Given the description of an element on the screen output the (x, y) to click on. 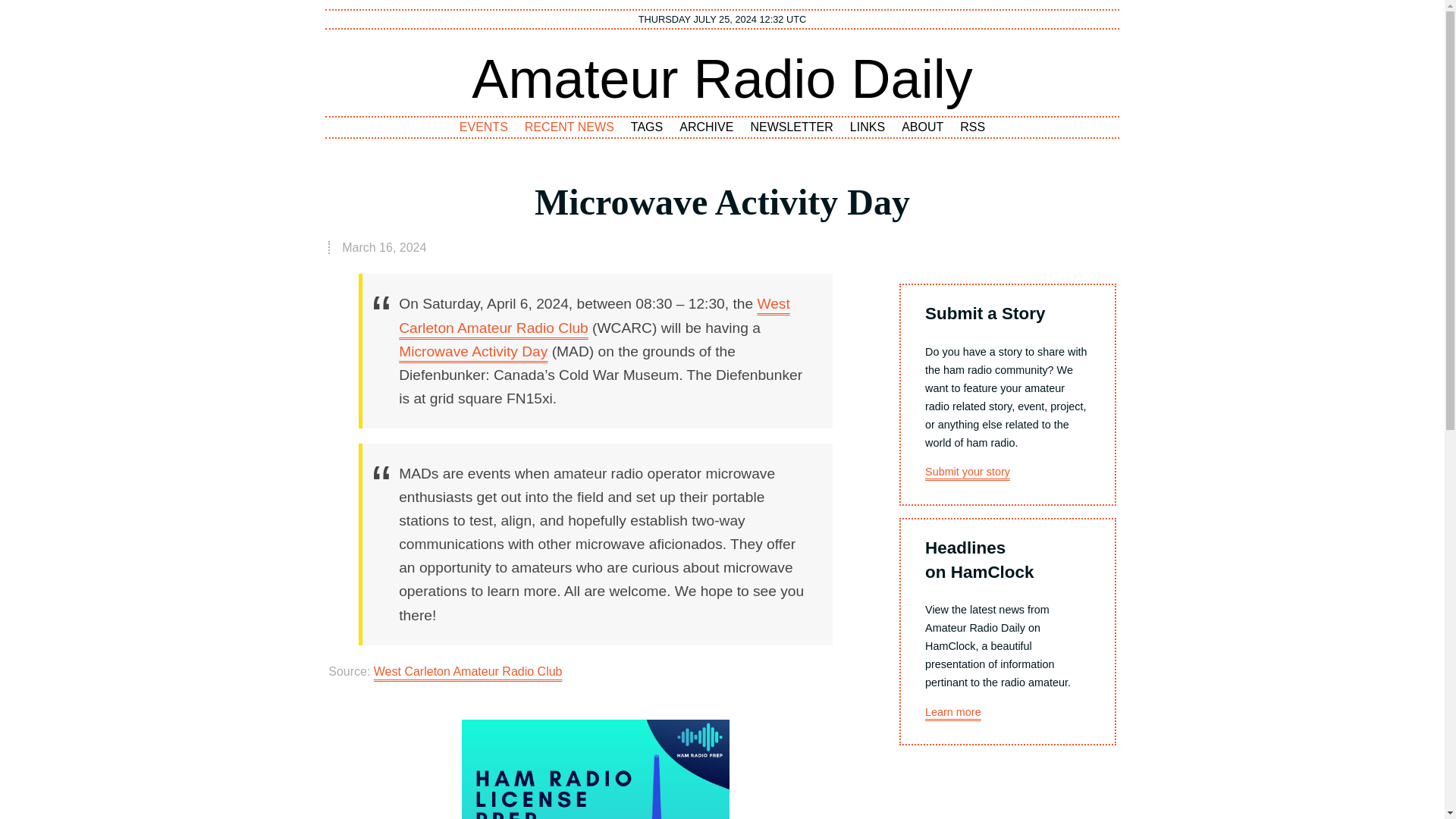
RECENT NEWS (569, 126)
List of all posts (705, 126)
Microwave Activity Day (472, 351)
Posts grouped by tag (646, 126)
TAGS (646, 126)
Learn more (952, 711)
ARCHIVE (705, 126)
ABOUT (922, 126)
RSS (972, 126)
EVENTS (483, 126)
NEWSLETTER (792, 126)
RSS feed (972, 126)
About Amateur Radio Daily (922, 126)
Amateur Radio Daily (721, 78)
Submit your story (967, 471)
